Given the description of an element on the screen output the (x, y) to click on. 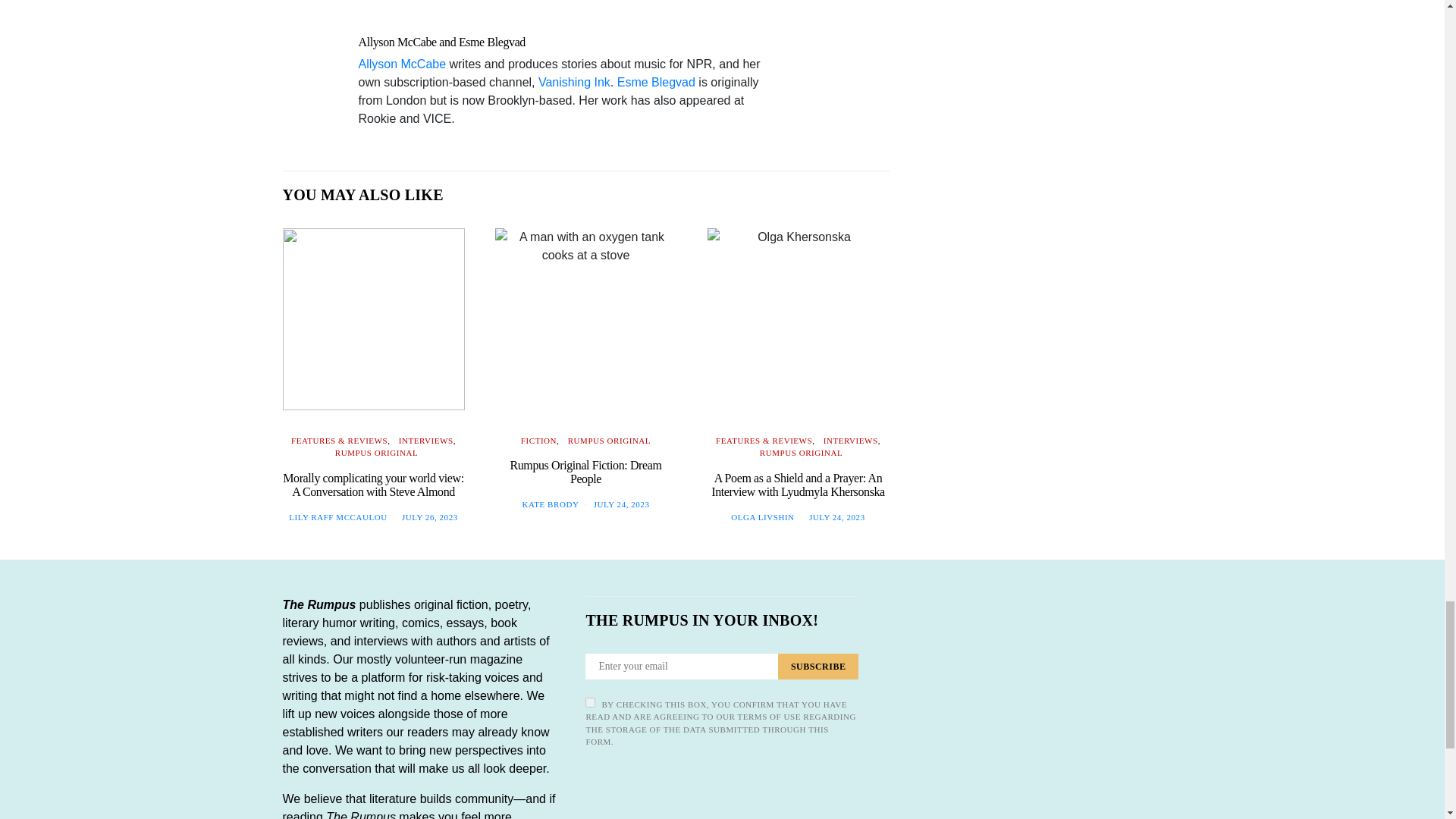
View all posts by Kate Brody (550, 503)
on (590, 702)
View all posts by Olga Livshin (761, 516)
View all posts by Lily Raff McCaulou (337, 516)
